Given the description of an element on the screen output the (x, y) to click on. 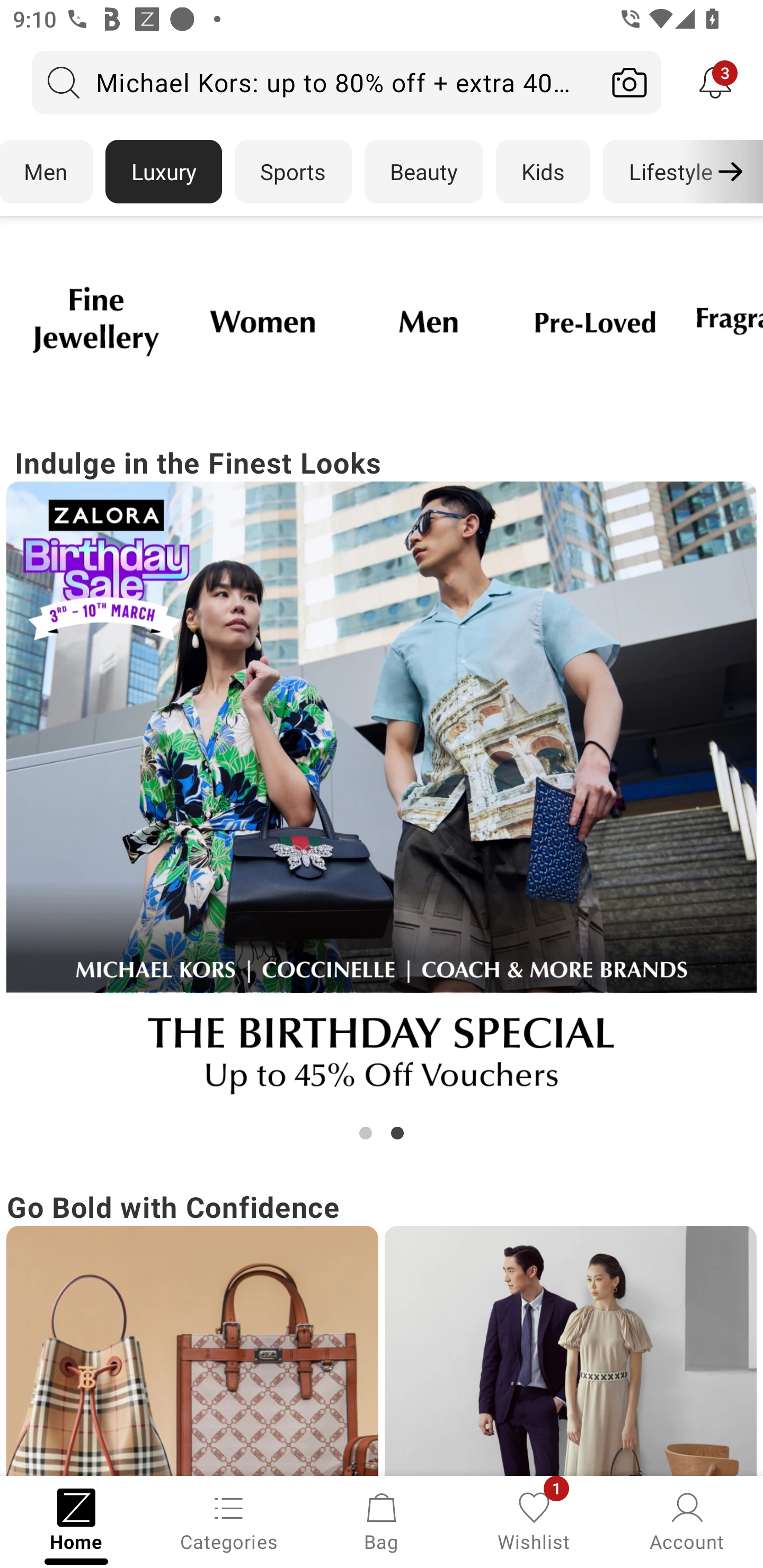
Michael Kors: up to 80% off + extra 40% off (314, 82)
Men (46, 171)
Luxury (163, 171)
Sports (293, 171)
Beauty (423, 171)
Kids (542, 171)
Lifestyle (669, 171)
Campaign banner (95, 321)
Campaign banner (261, 321)
Campaign banner (428, 321)
Campaign banner (594, 321)
 Indulge in the Finest Looks Campaign banner (381, 792)
Campaign banner (381, 797)
Campaign banner (192, 1350)
Campaign banner (570, 1350)
Categories (228, 1519)
Bag (381, 1519)
Wishlist, 1 new notification Wishlist (533, 1519)
Account (686, 1519)
